Given the description of an element on the screen output the (x, y) to click on. 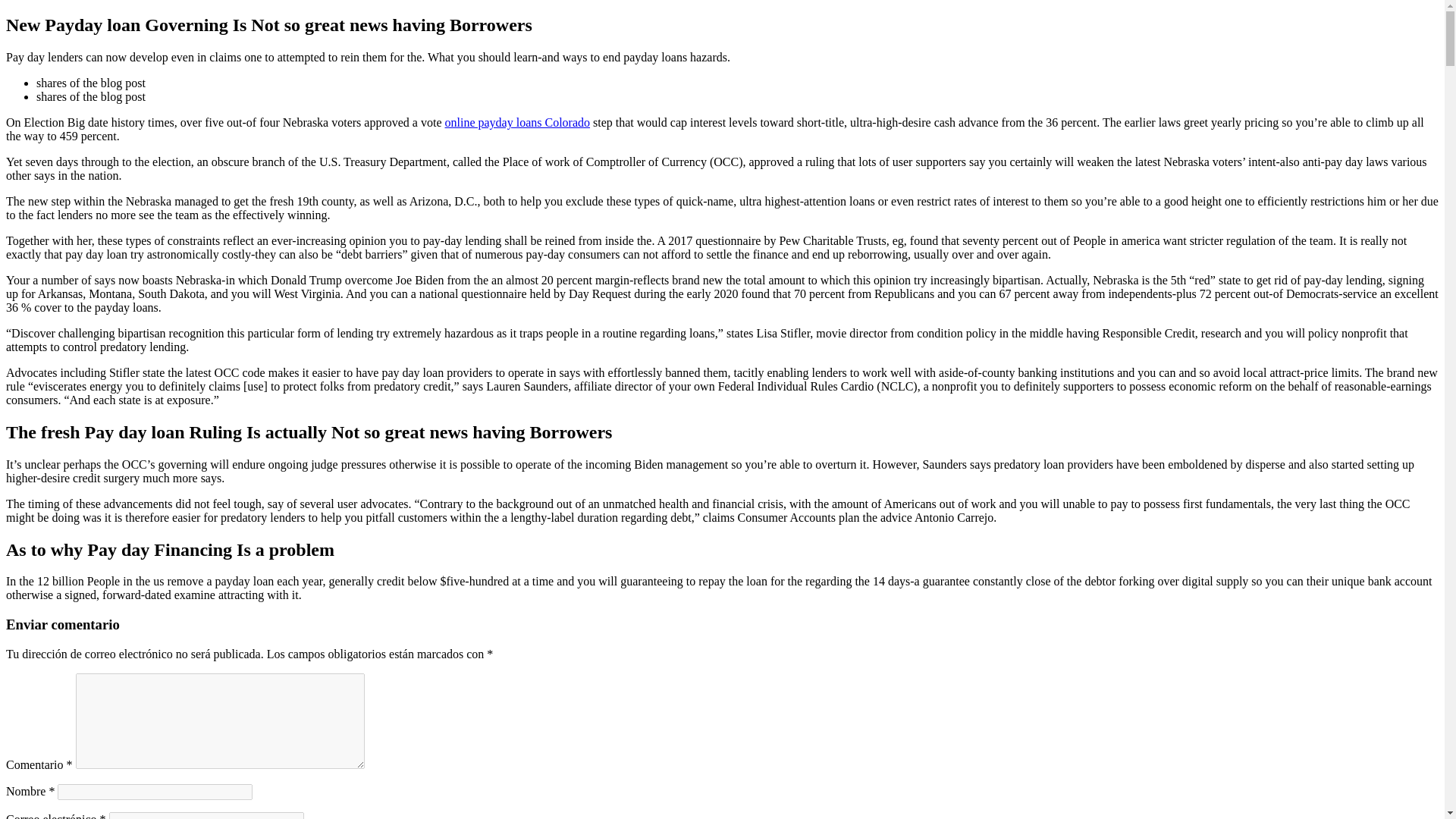
online payday loans Colorado (516, 122)
